Given the description of an element on the screen output the (x, y) to click on. 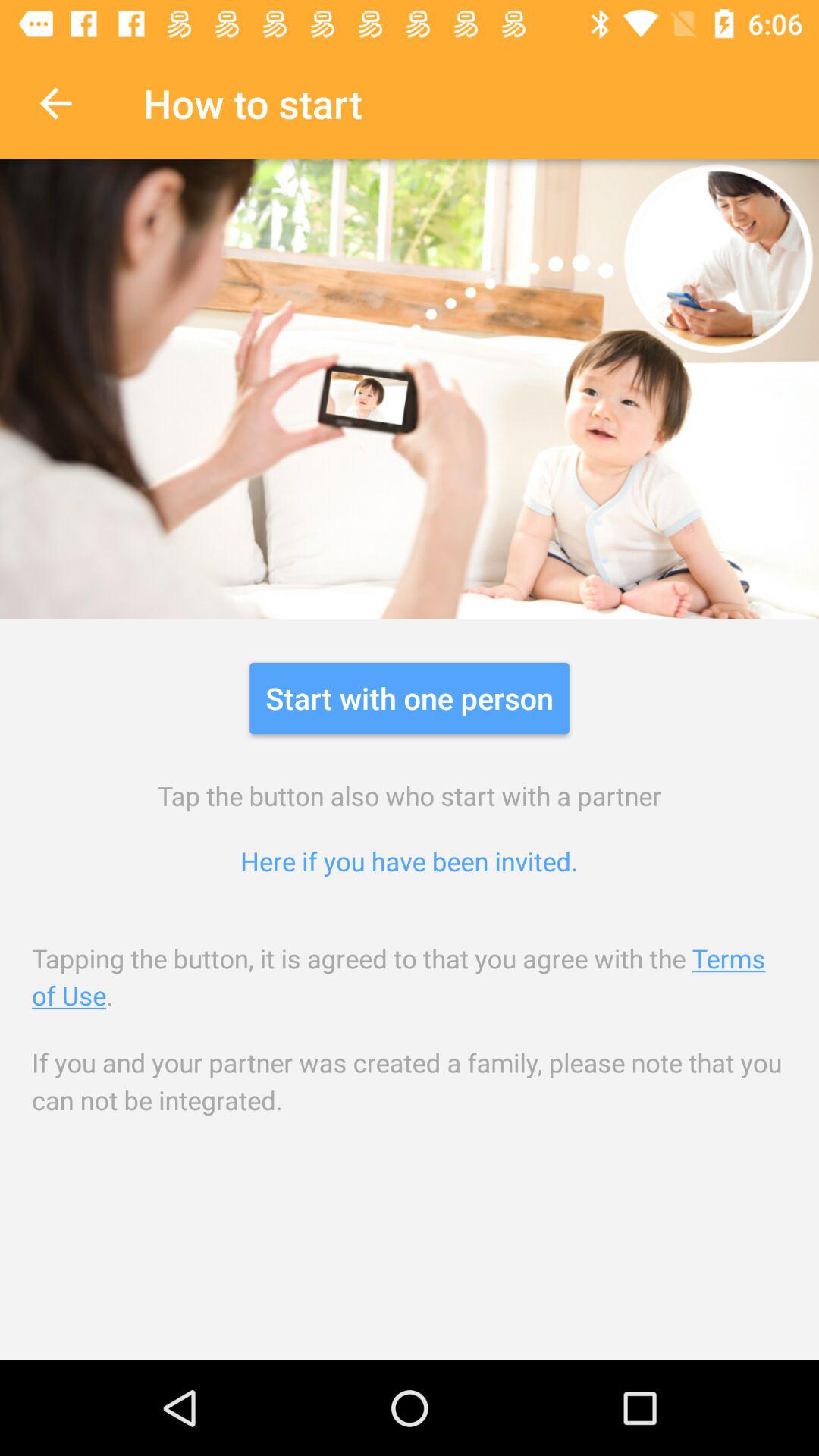
open icon to the left of the how to start icon (55, 103)
